Given the description of an element on the screen output the (x, y) to click on. 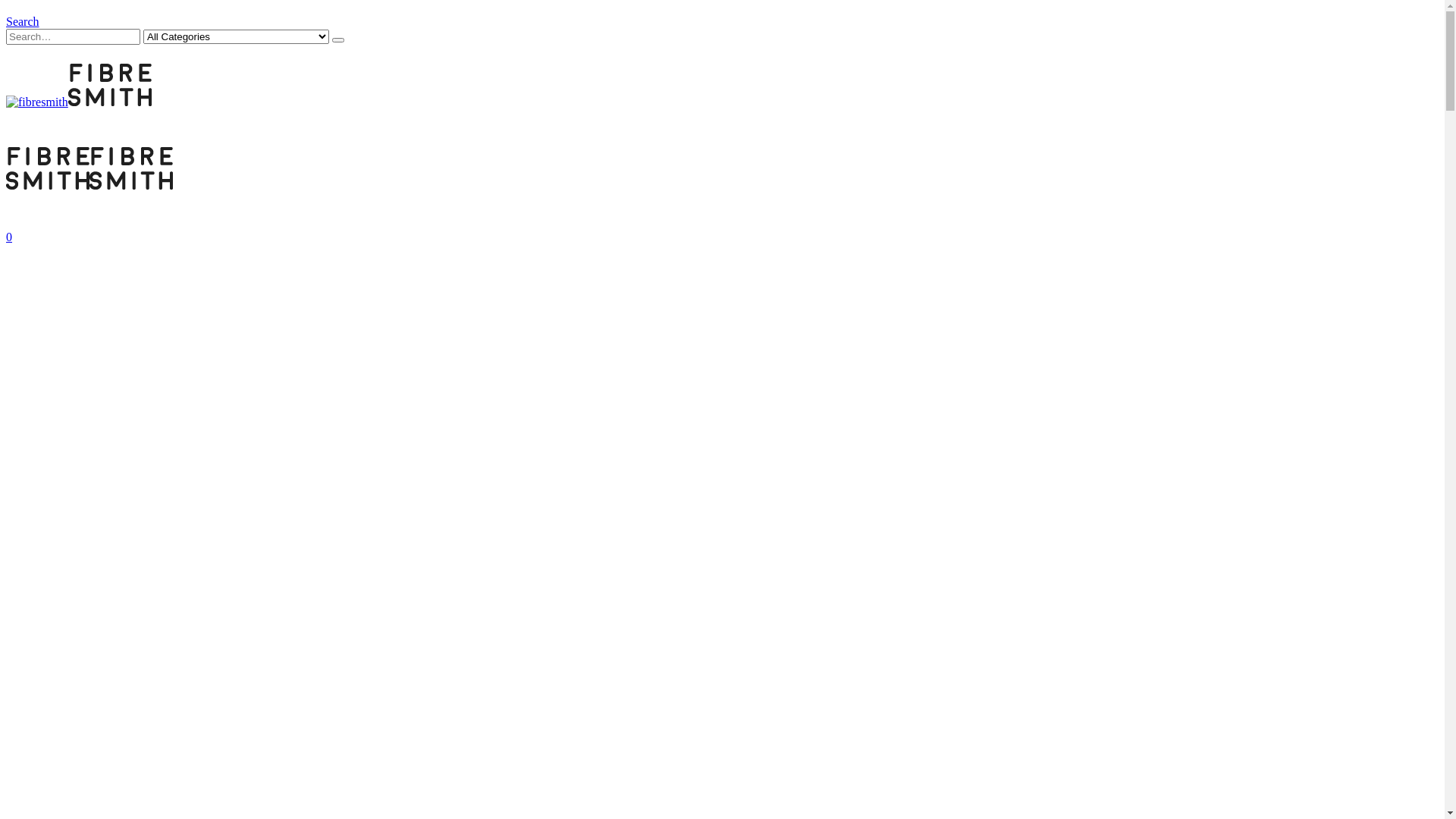
fibresmith - cloth & yarn Element type: hover (78, 101)
Search Element type: hover (338, 39)
fibresmith - cloth & yarn Element type: hover (89, 184)
Search Element type: text (22, 21)
0 Element type: text (9, 236)
